Given the description of an element on the screen output the (x, y) to click on. 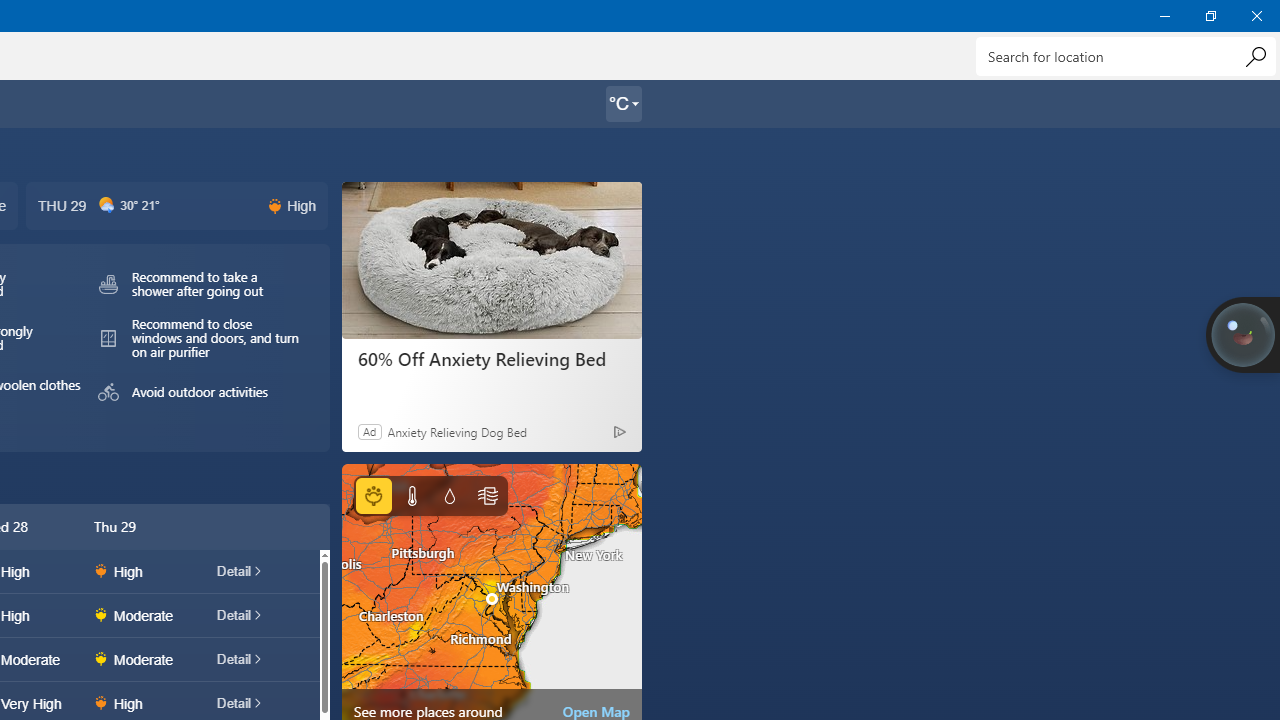
Minimize Weather (1164, 15)
Search for location (1125, 56)
Restore Weather (1210, 15)
Close Weather (1256, 15)
Search (1255, 56)
